Given the description of an element on the screen output the (x, y) to click on. 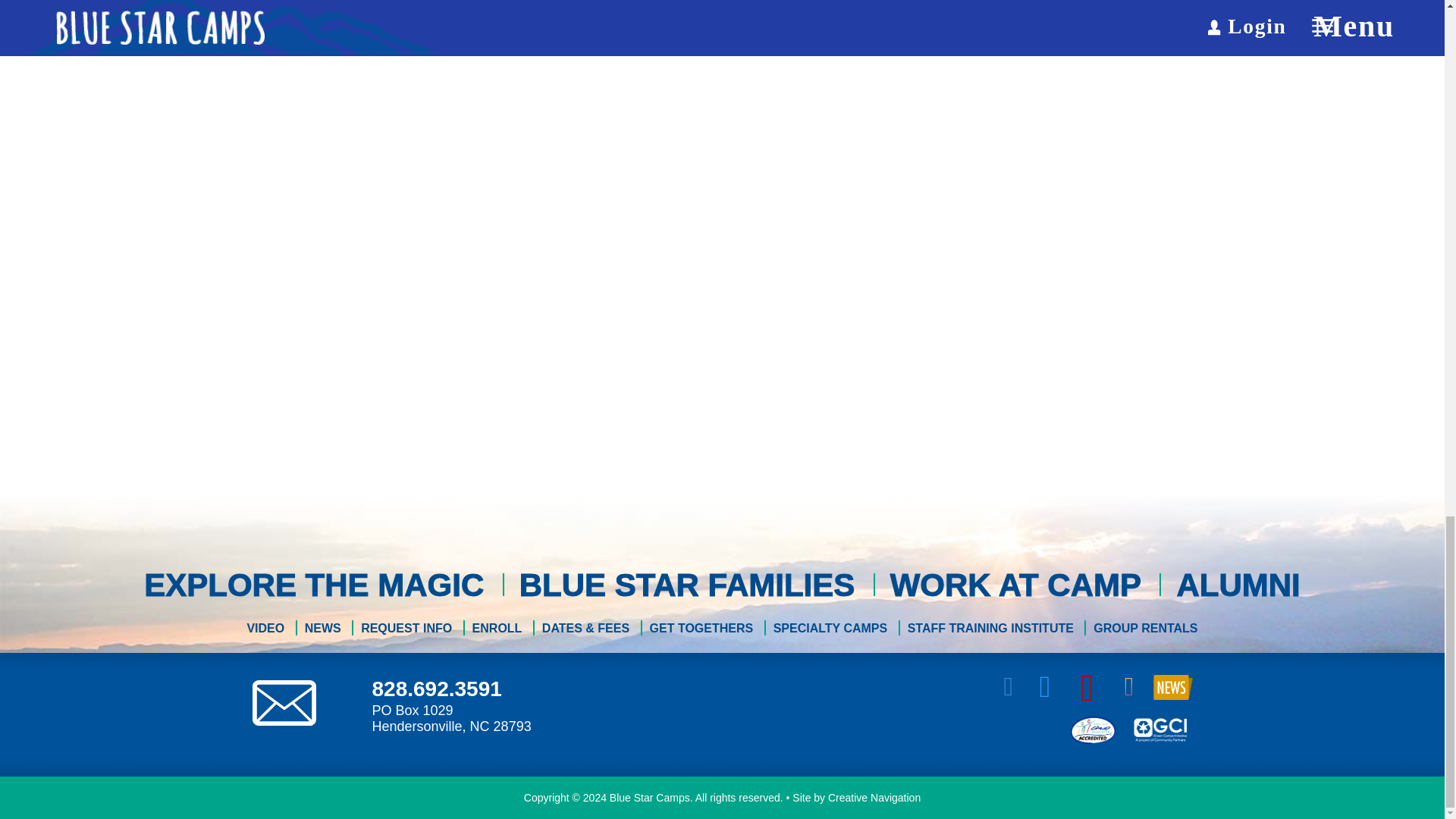
Green Camps Initiative (1159, 729)
Accredited by the American Camp Association (1092, 729)
